Given the description of an element on the screen output the (x, y) to click on. 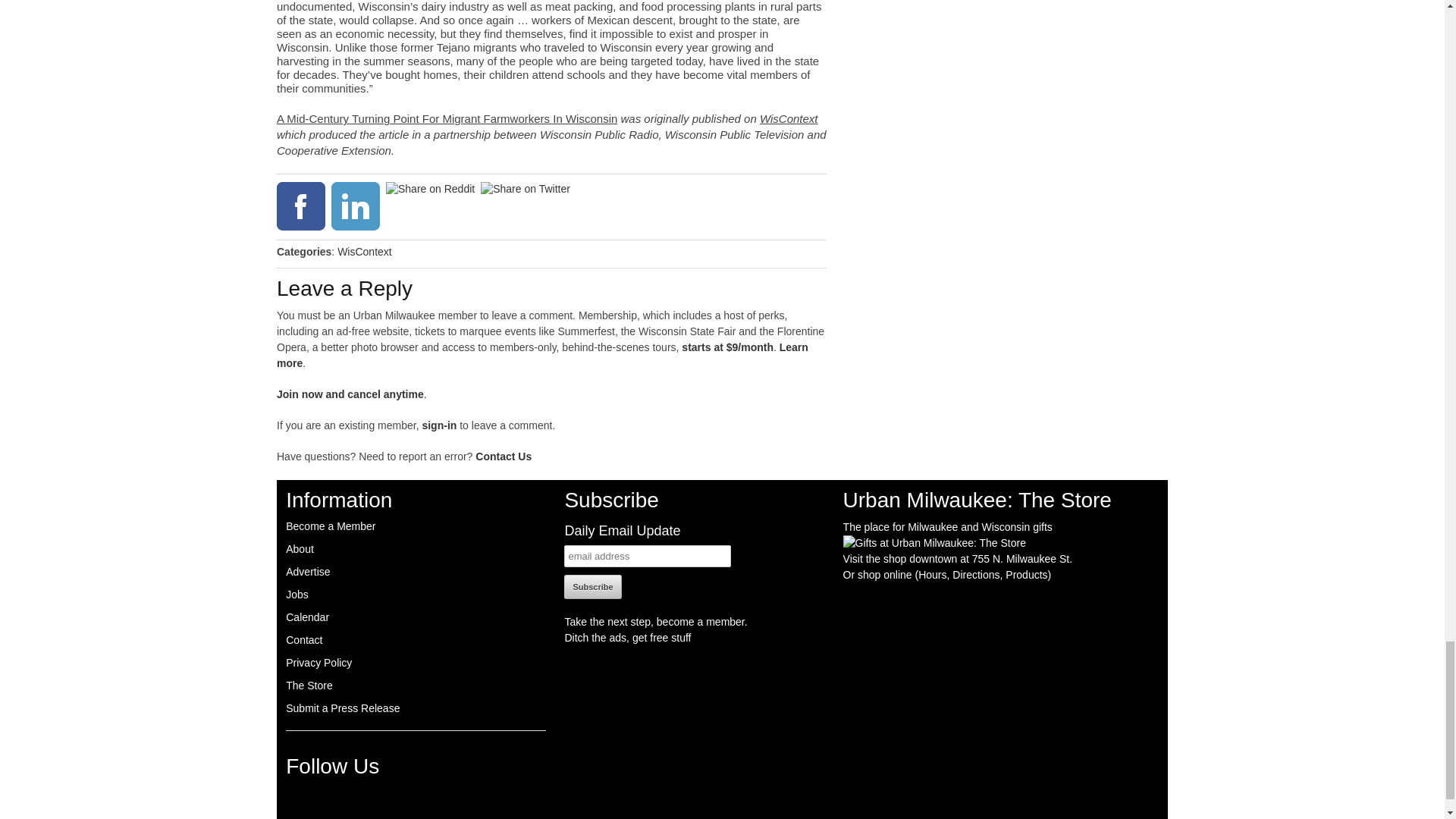
WisContext (364, 251)
Subscribe (592, 586)
